Given the description of an element on the screen output the (x, y) to click on. 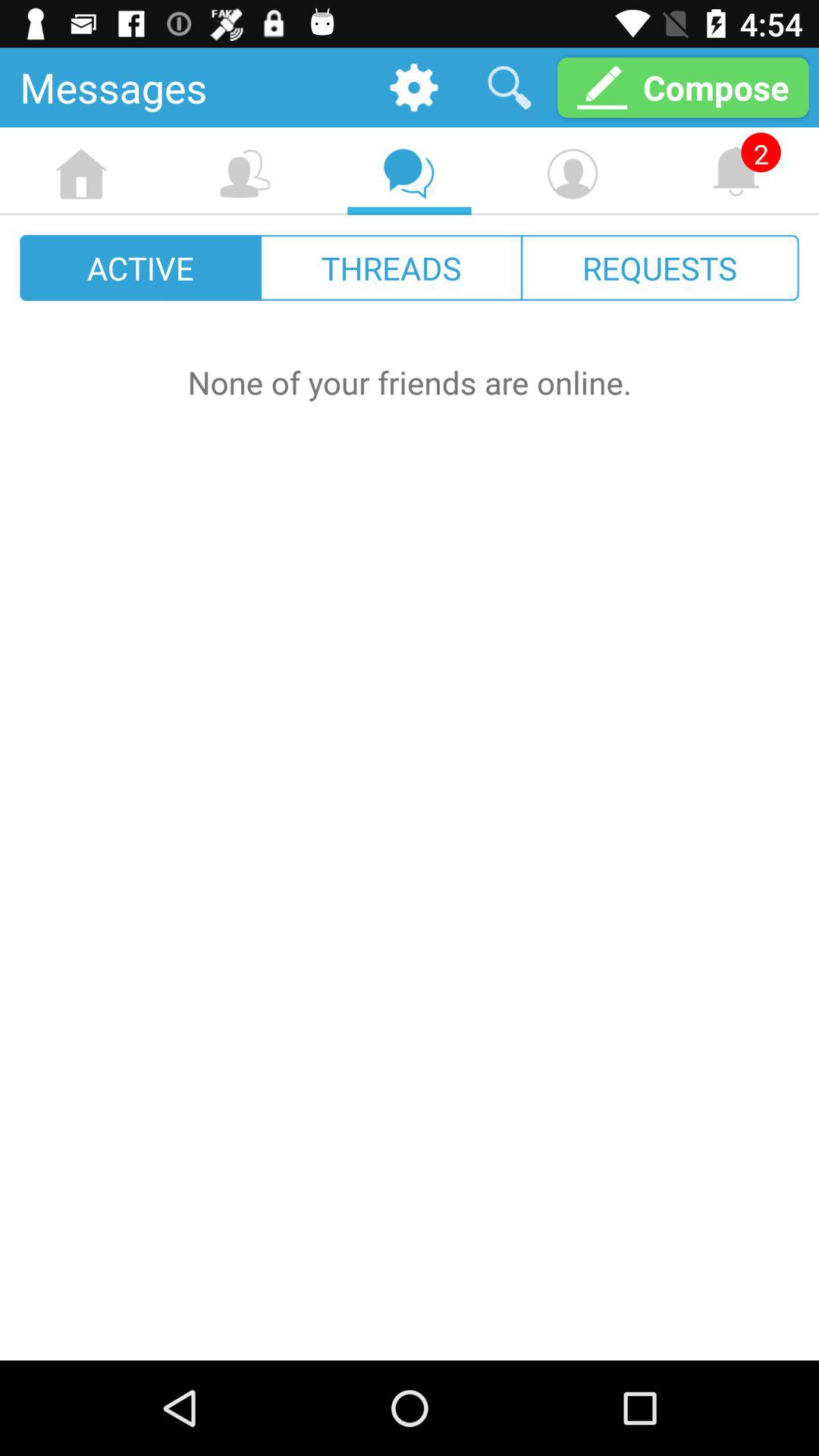
choose the item next to the compose icon (509, 87)
